Given the description of an element on the screen output the (x, y) to click on. 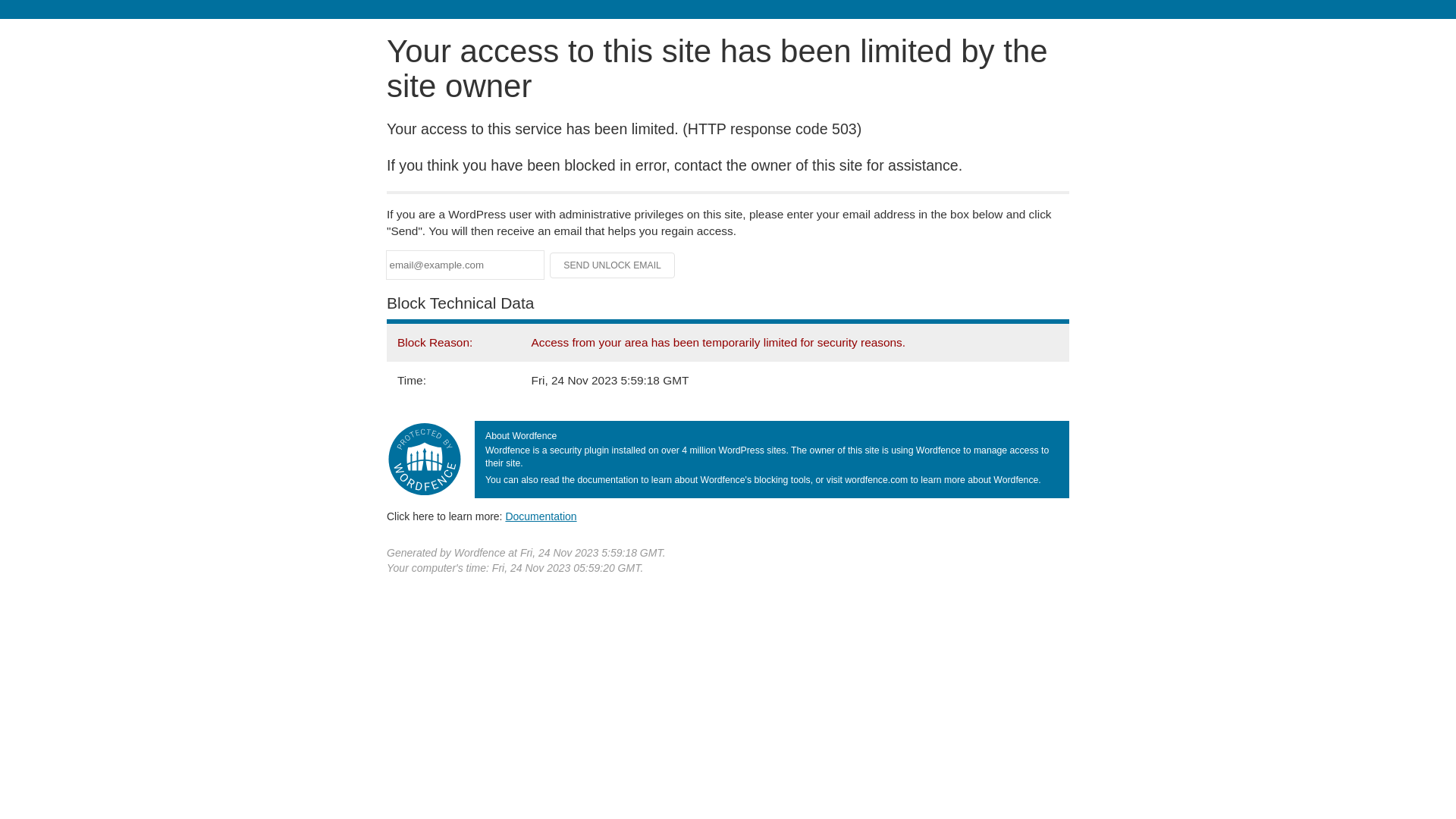
Send Unlock Email Element type: text (612, 265)
Documentation Element type: text (540, 516)
